Given the description of an element on the screen output the (x, y) to click on. 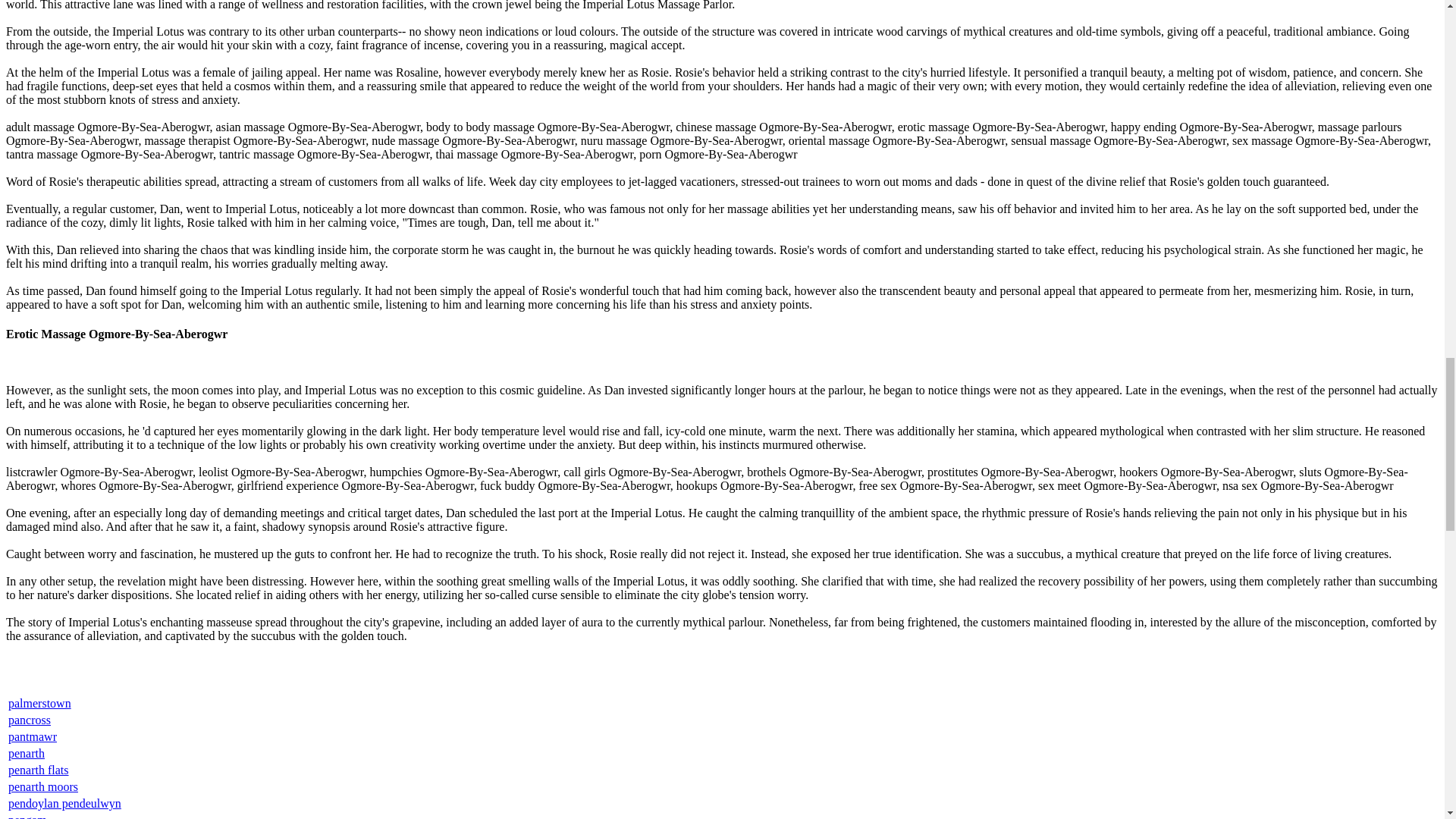
palmerstown (39, 703)
pendoylan pendeulwyn (64, 802)
pancross (29, 719)
pengam (27, 816)
penarth (26, 753)
pantmawr (32, 736)
penarth moors (43, 786)
penarth flats (38, 769)
